Given the description of an element on the screen output the (x, y) to click on. 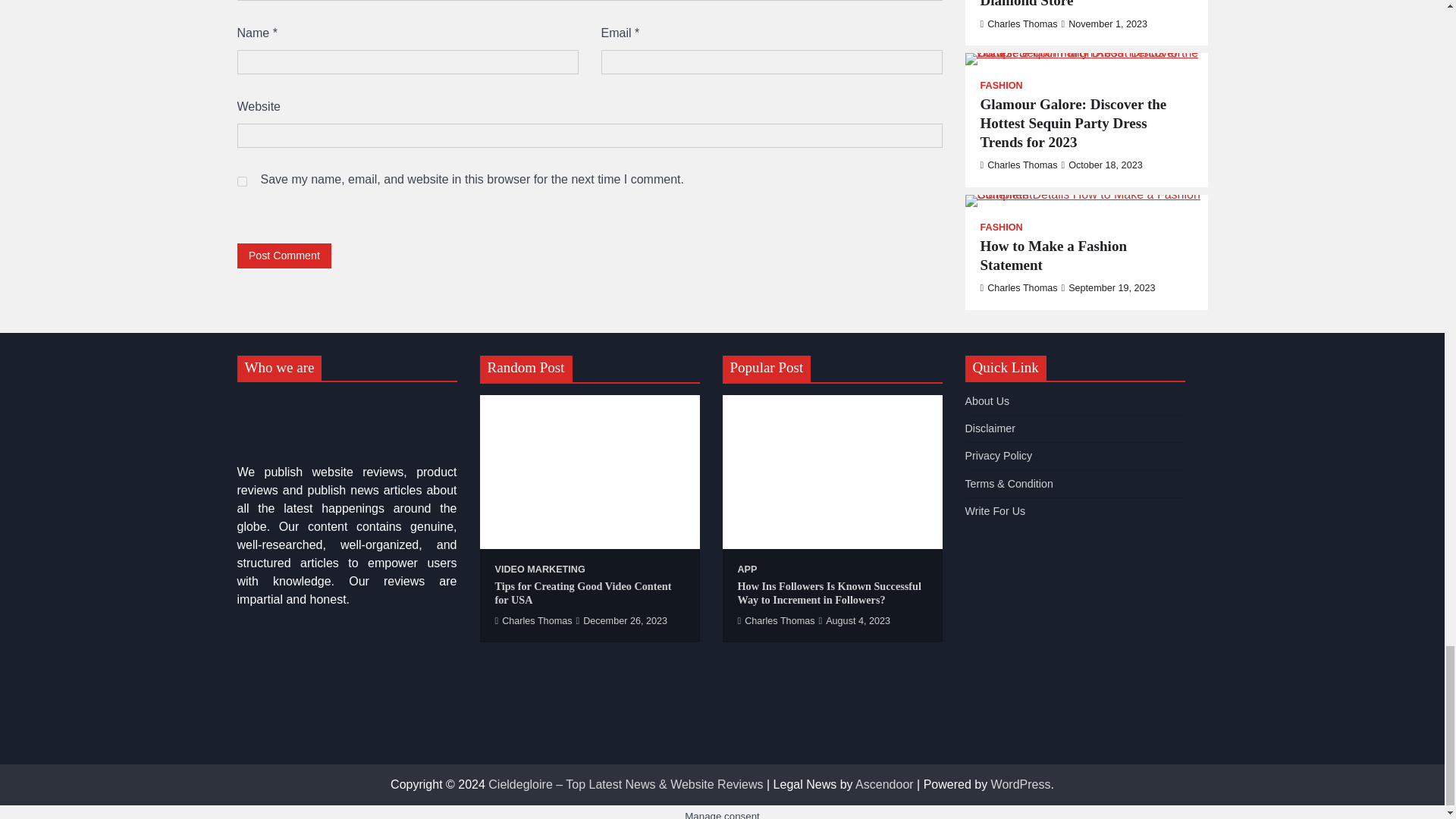
DMCA.com Protection Status (346, 736)
yes (240, 181)
Post Comment (283, 255)
